Given the description of an element on the screen output the (x, y) to click on. 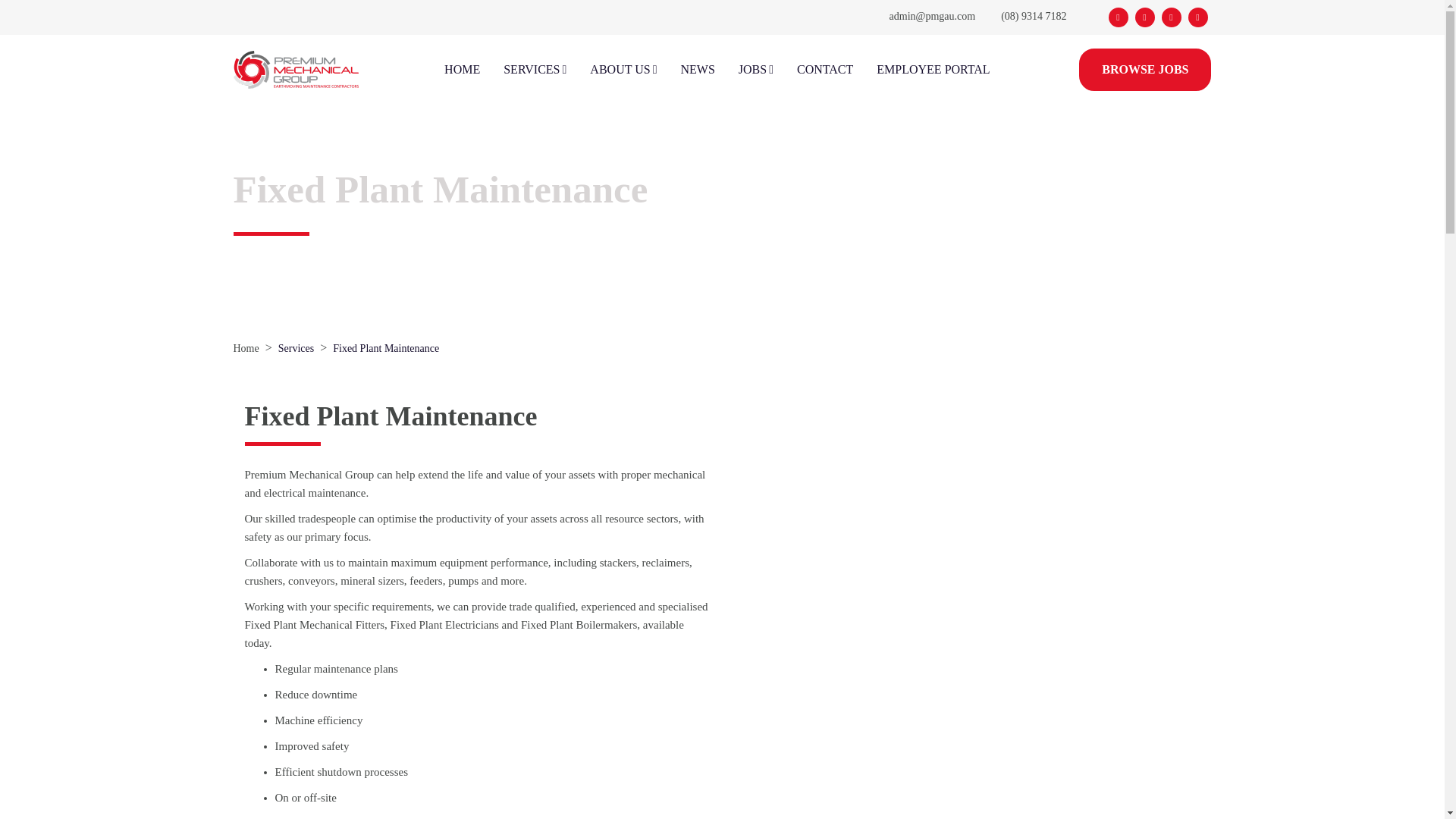
Home (245, 348)
BROWSE JOBS (1144, 69)
NEWS (697, 69)
Fixed Plant Maintenance (386, 348)
SERVICES (534, 69)
ABOUT US (622, 69)
Services (296, 348)
CONTACT (824, 69)
EMPLOYEE PORTAL (932, 69)
JOBS (755, 69)
HOME (462, 69)
